Given the description of an element on the screen output the (x, y) to click on. 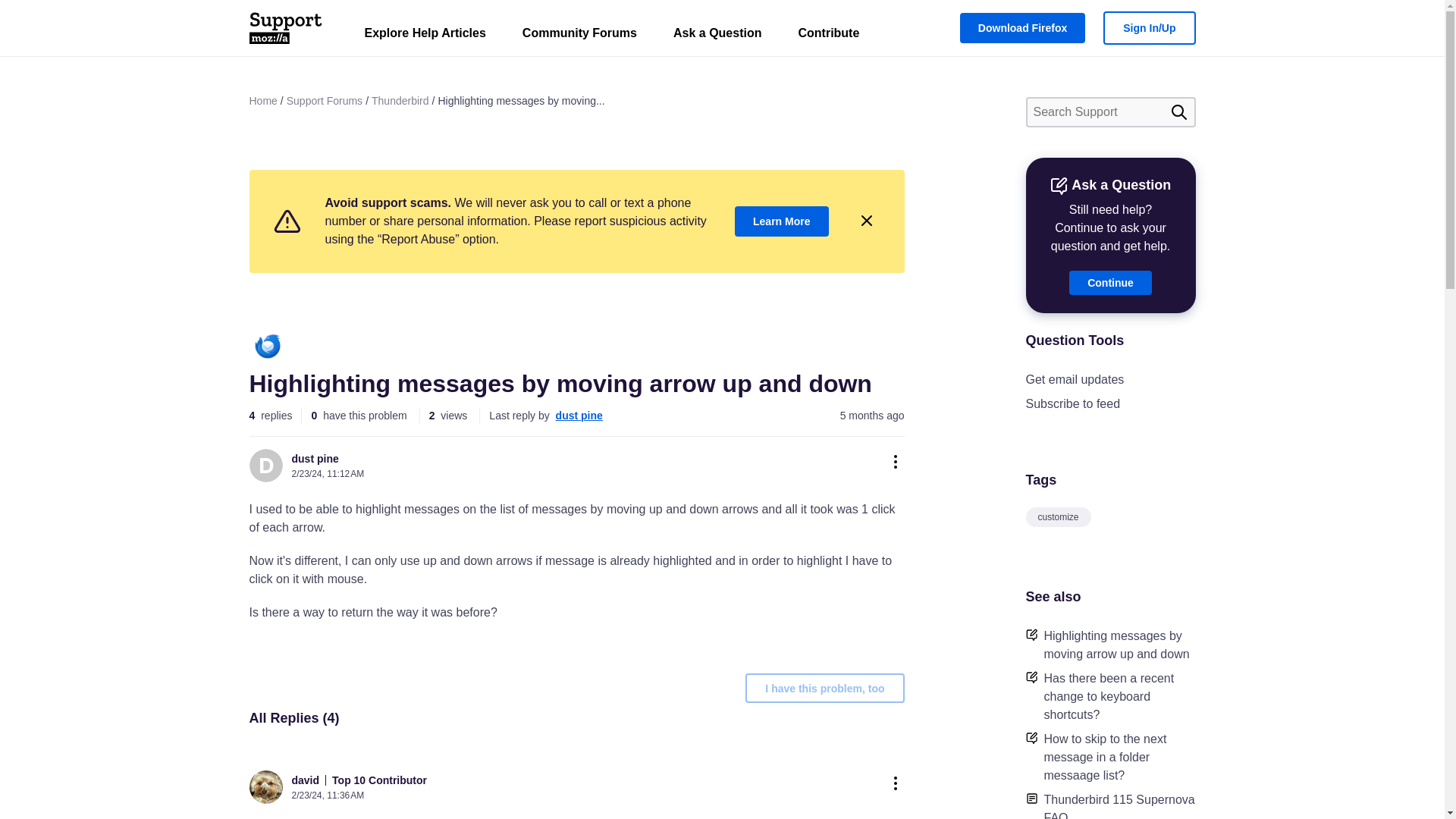
Community Forums (579, 37)
Search (1178, 111)
Ask a Question (716, 37)
Explore Help Articles (424, 37)
